Given the description of an element on the screen output the (x, y) to click on. 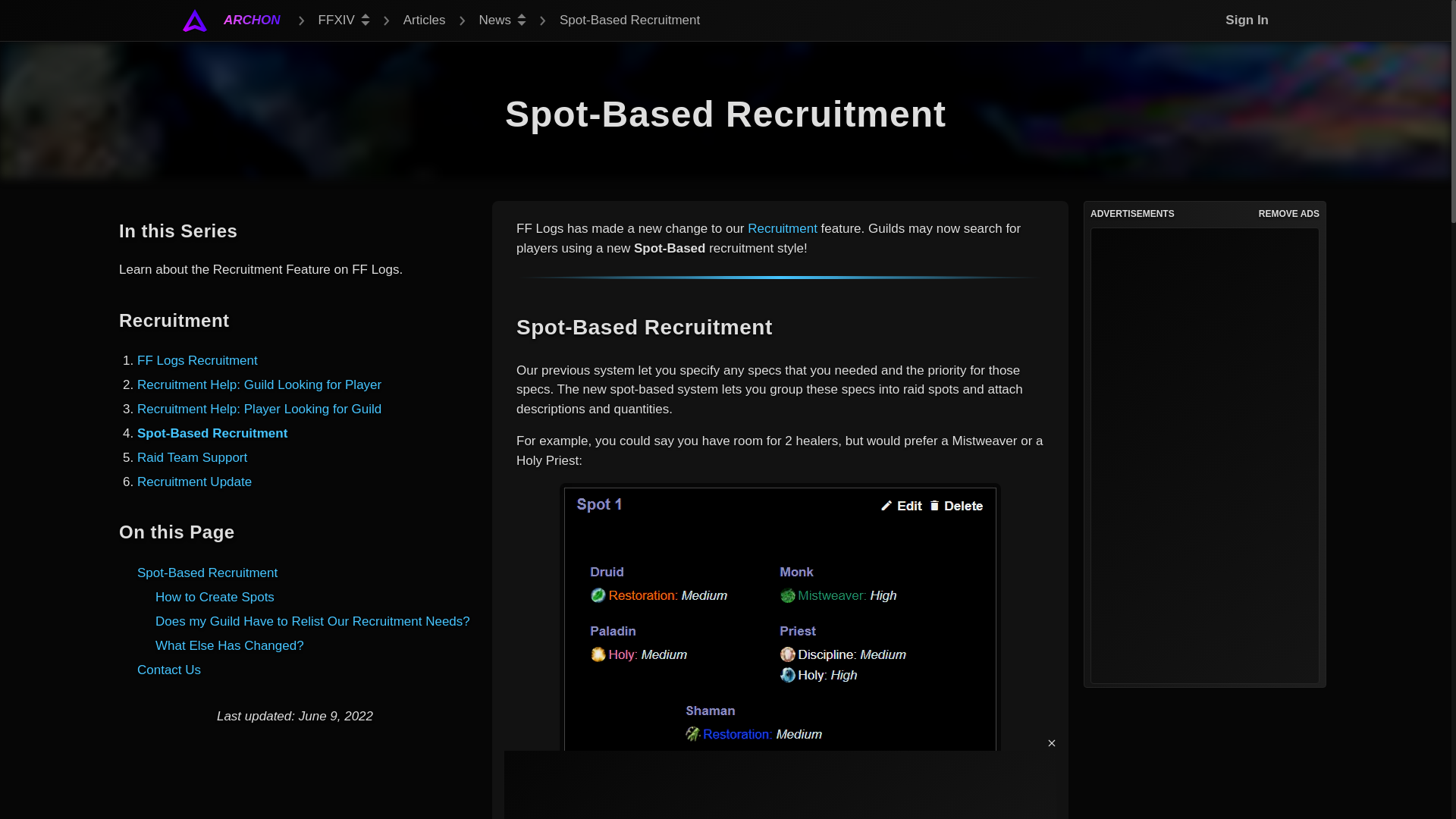
What Else Has Changed? (229, 645)
Does my Guild Have to Relist Our Recruitment Needs? (312, 621)
FF Logs Recruitment (196, 359)
Raid Team Support (191, 457)
News (503, 20)
FFXIV (343, 20)
ARCHON (252, 20)
Sign In (1241, 20)
How to Create Spots (215, 596)
Recruitment Help: Player Looking for Guild (258, 409)
Recruitment (782, 228)
Recruitment Update (193, 481)
Articles (424, 20)
Spot-Based Recruitment (211, 432)
Recruitment Help: Guild Looking for Player (258, 384)
